Given the description of an element on the screen output the (x, y) to click on. 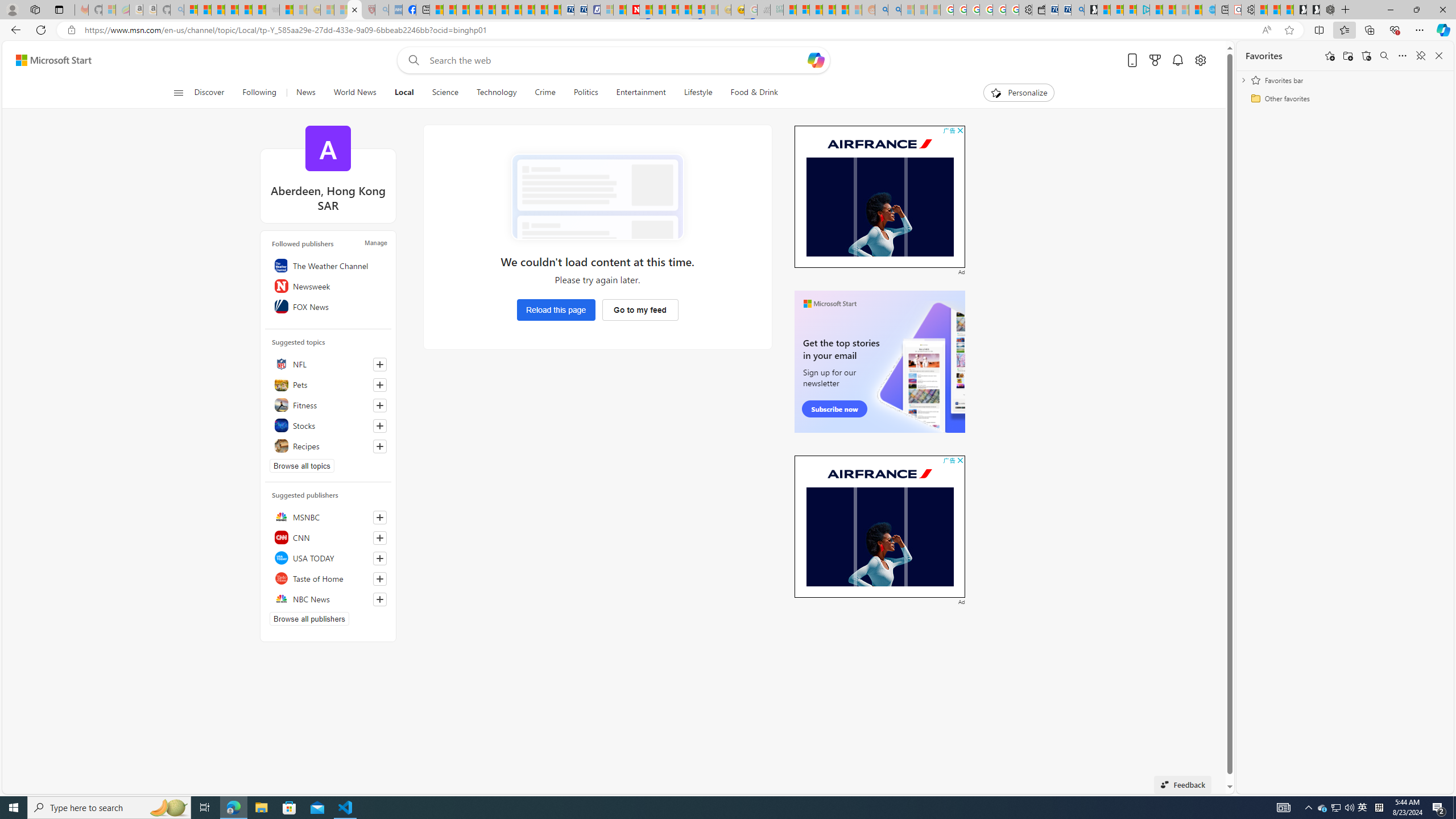
Enter your search term (617, 59)
Reload this page (555, 309)
